Given the description of an element on the screen output the (x, y) to click on. 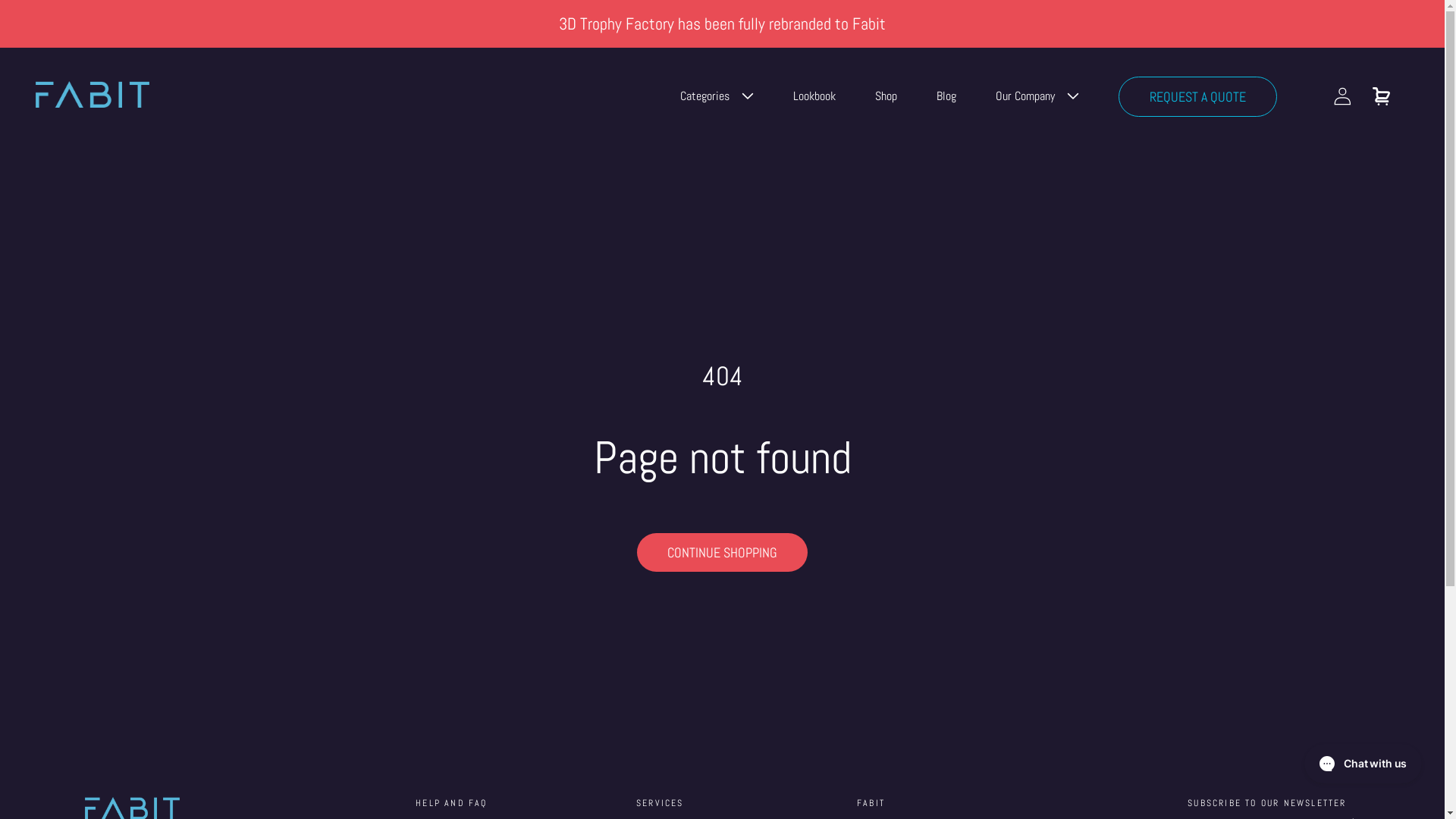
Log in Element type: text (1342, 96)
REQUEST A QUOTE Element type: text (1197, 95)
Lookbook Element type: text (814, 95)
Gorgias live chat messenger Element type: hover (1362, 763)
Blog Element type: text (946, 95)
CONTINUE SHOPPING Element type: text (722, 551)
Cart Element type: text (1381, 96)
Categories Element type: text (716, 96)
Our Company Element type: text (1037, 96)
Shop Element type: text (886, 95)
